Given the description of an element on the screen output the (x, y) to click on. 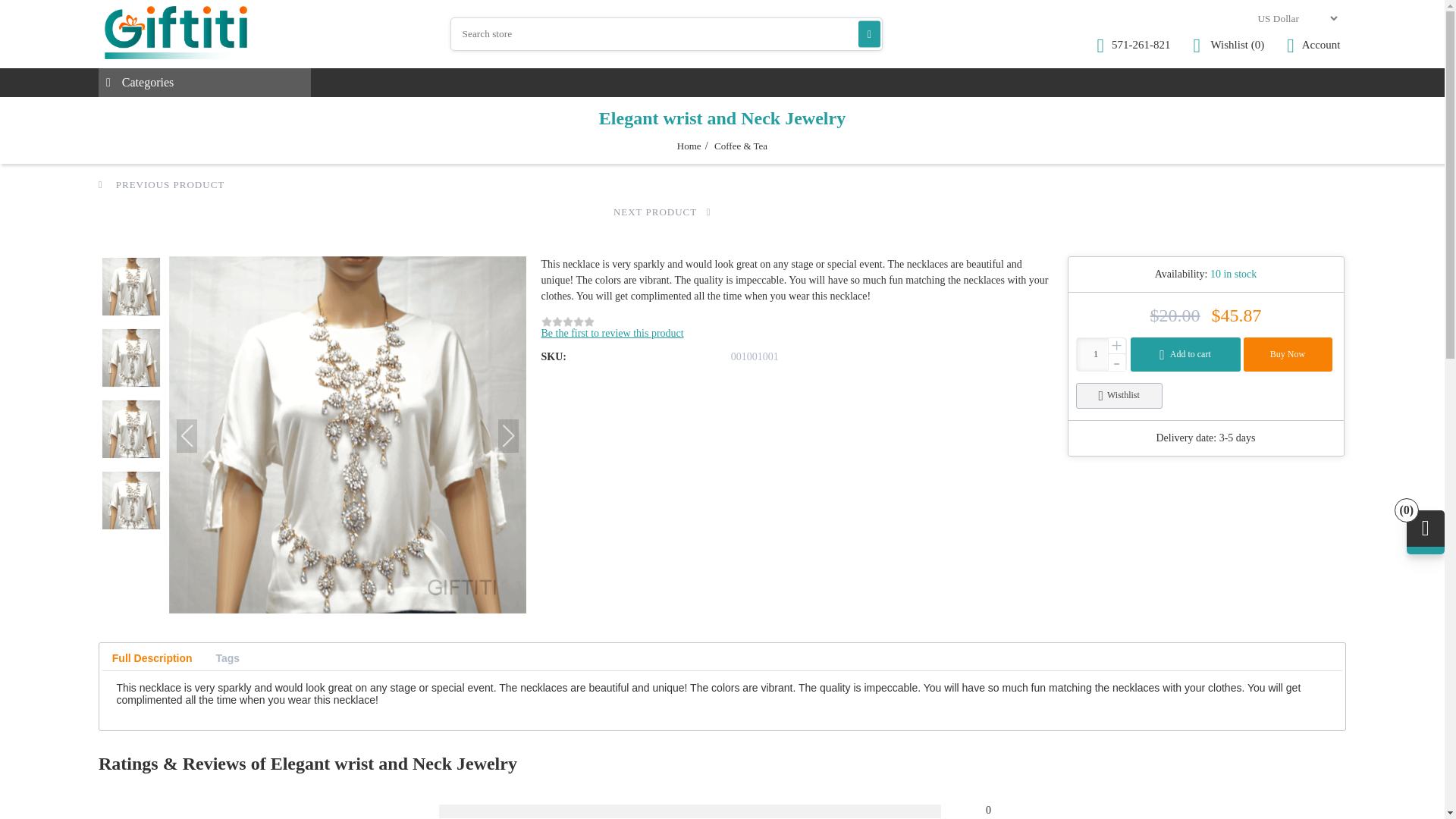
1 (1101, 354)
Picture of Elegant wrist and Neck Jewelry (129, 357)
Account (1313, 46)
Home (689, 145)
    PREVIOUS PRODUCT (161, 184)
Categories (205, 82)
571-261-821 (1133, 46)
Picture of Elegant wrist and Neck Jewelry (346, 434)
Picture of Elegant wrist and Neck Jewelry (129, 500)
Picture of Elegant wrist and Neck Jewelry (129, 286)
Picture of Elegant wrist and Neck Jewelry (129, 428)
